Given the description of an element on the screen output the (x, y) to click on. 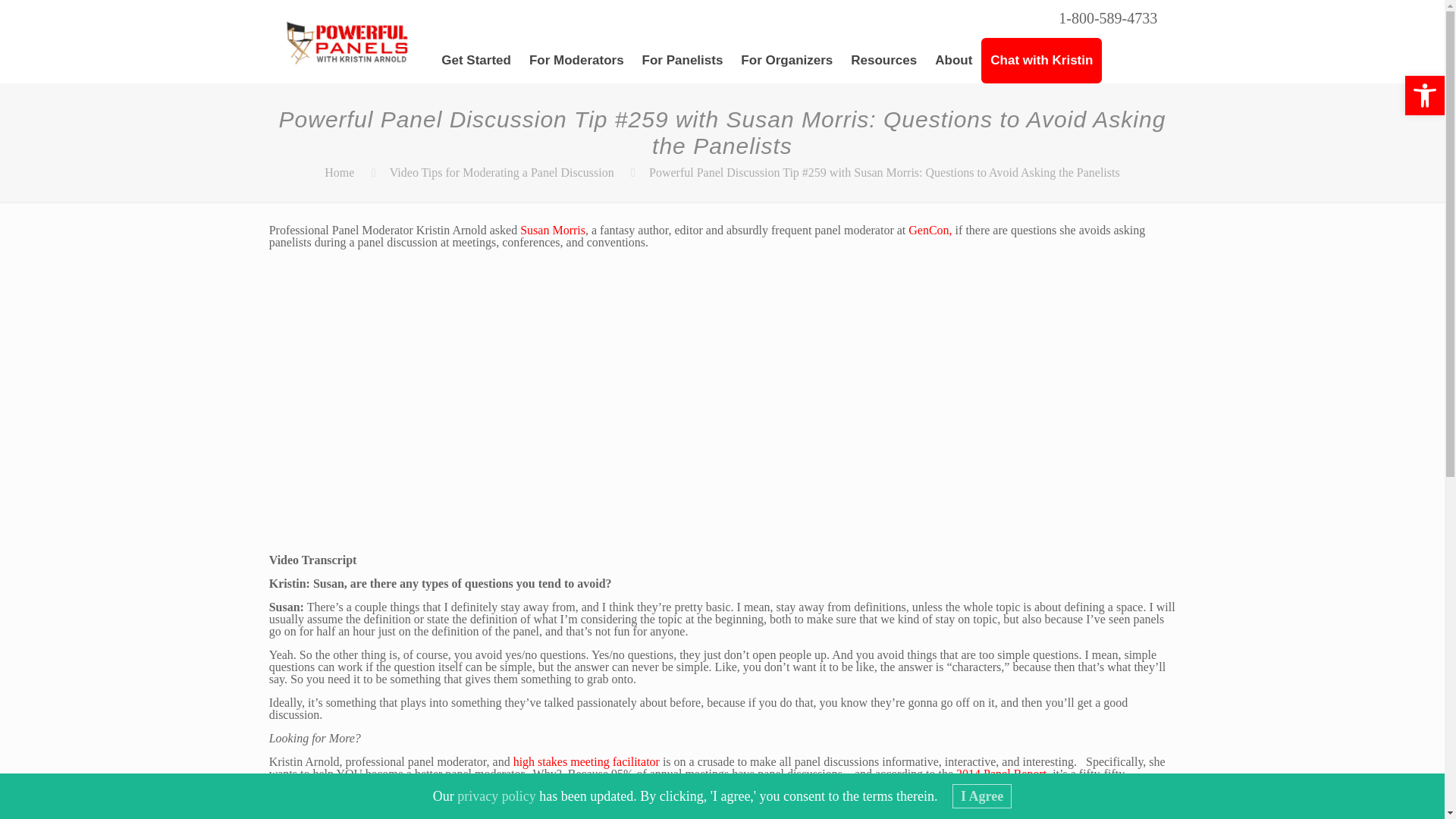
For Moderators (576, 60)
For Panelists (682, 60)
Accessibility Tools (1424, 95)
Powerful Panels (346, 41)
For Organizers (786, 60)
About (953, 60)
Resources (883, 60)
Get Started (475, 60)
